Given the description of an element on the screen output the (x, y) to click on. 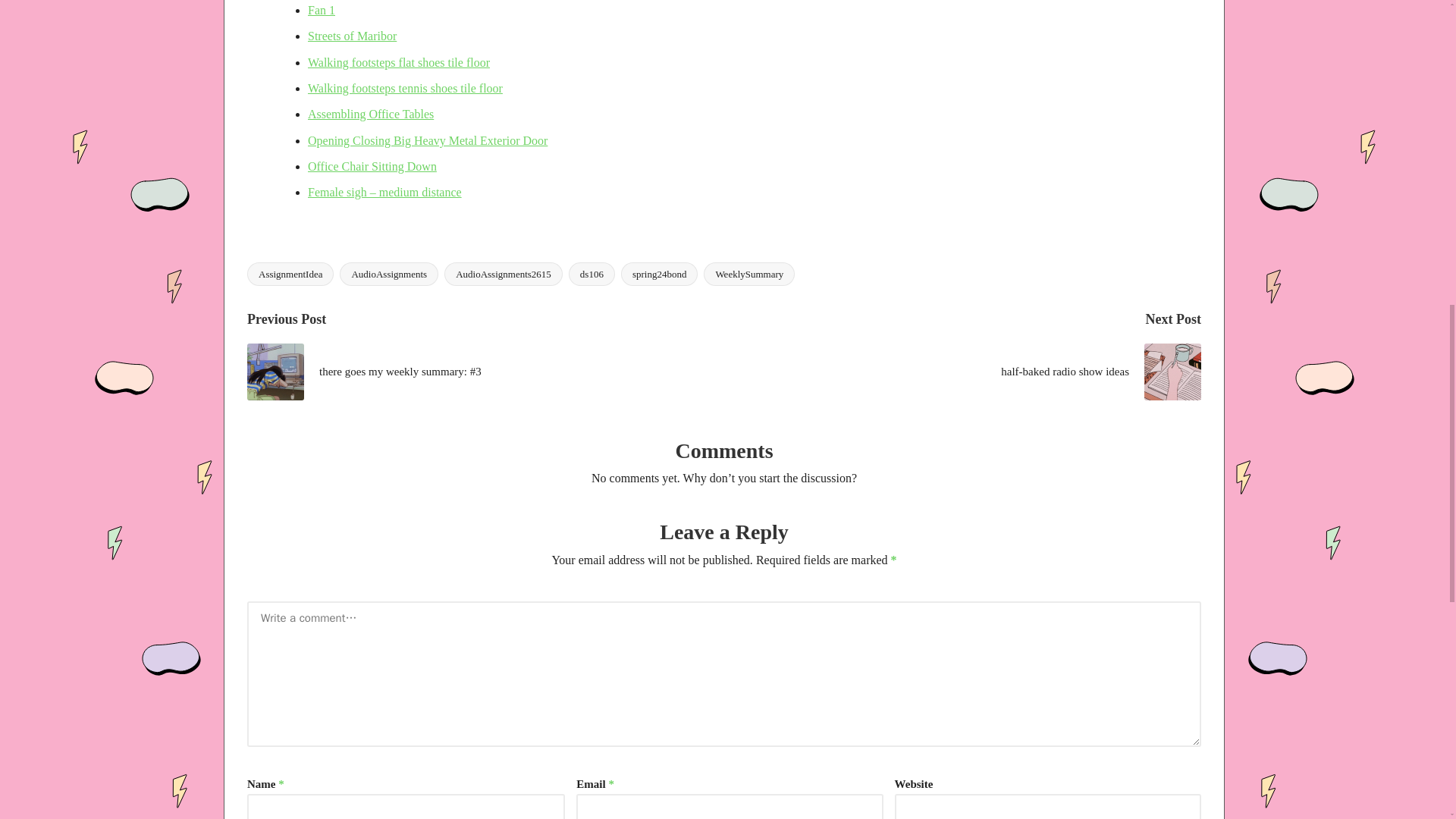
Office Chair Sitting Down (371, 165)
Walking footsteps flat shoes tile floor (398, 62)
Opening Closing Big Heavy Metal Exterior Door (427, 140)
ds106 (591, 273)
AudioAssignments2615 (503, 273)
AudioAssignments (388, 273)
Assembling Office Tables (370, 113)
spring24bond (659, 273)
Streets of Maribor (351, 35)
Walking footsteps tennis shoes tile floor (404, 88)
